Given the description of an element on the screen output the (x, y) to click on. 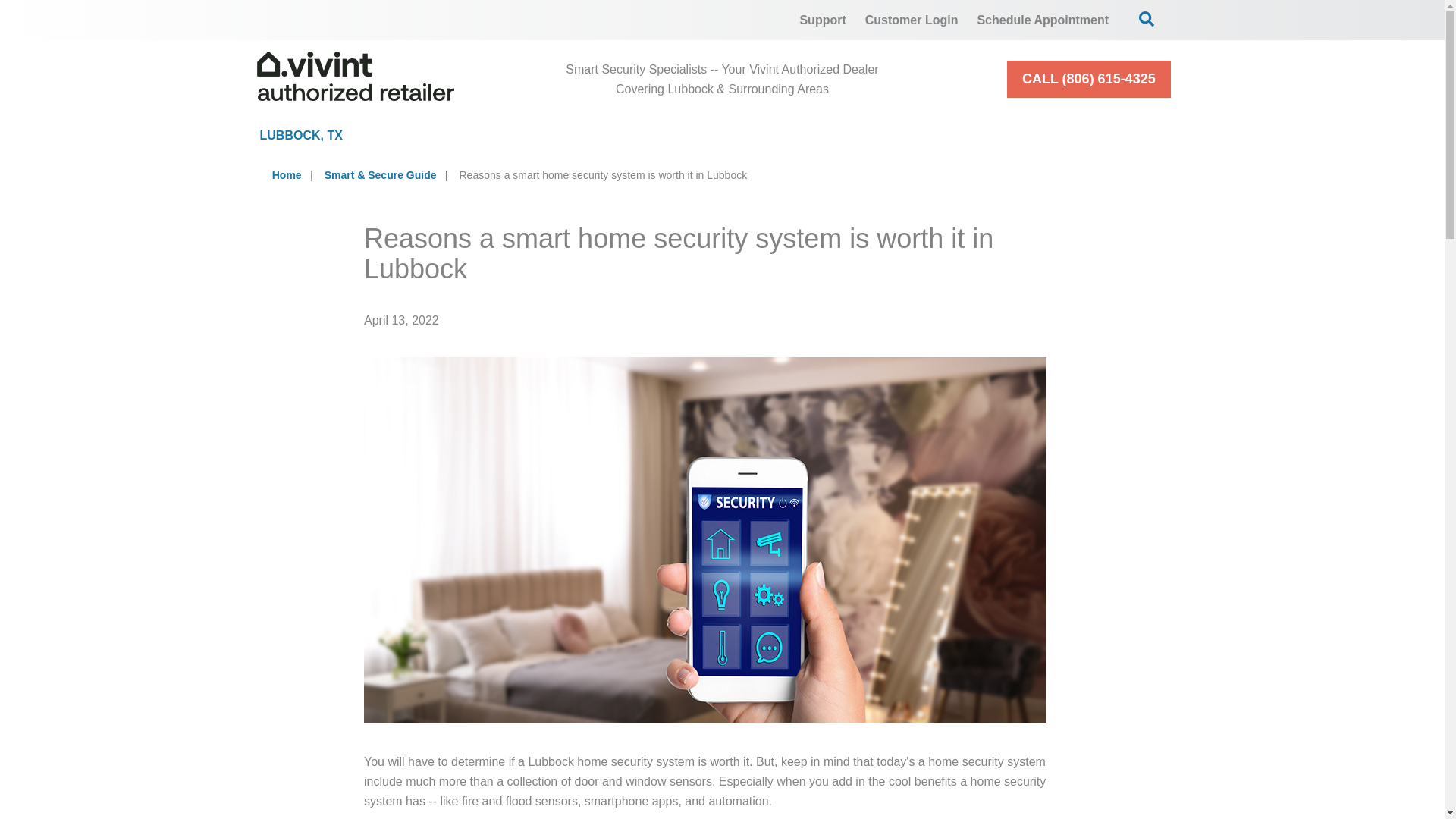
Home (286, 174)
Smart Home Automation (863, 135)
Open Search (1146, 18)
Cameras (659, 135)
Support (822, 20)
Customer Login (911, 20)
Schedule Appointment (1042, 20)
Home Security (484, 135)
